Given the description of an element on the screen output the (x, y) to click on. 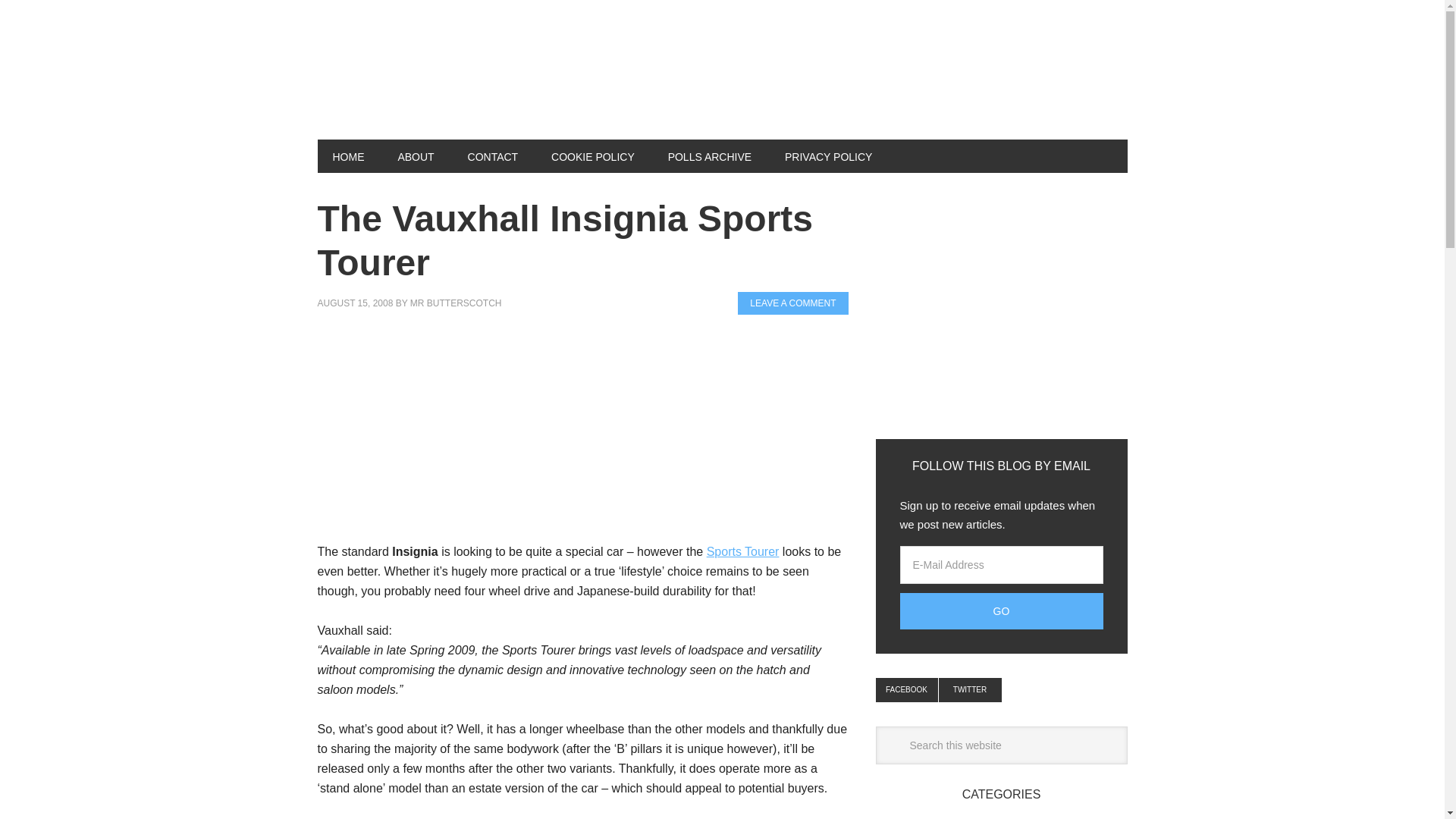
ABOUT (414, 155)
Go (1000, 610)
POLLS ARCHIVE (709, 155)
Vauxhall Insignia Sports Tourer. (742, 551)
FACEBOOK (906, 689)
Sports Tourer (742, 551)
CONTACT (493, 155)
MR BUTTERSCOTCH (456, 303)
COOKIE POLICY (592, 155)
LEAVE A COMMENT (792, 302)
HOME (347, 155)
CAR ARTICLES (419, 81)
